Given the description of an element on the screen output the (x, y) to click on. 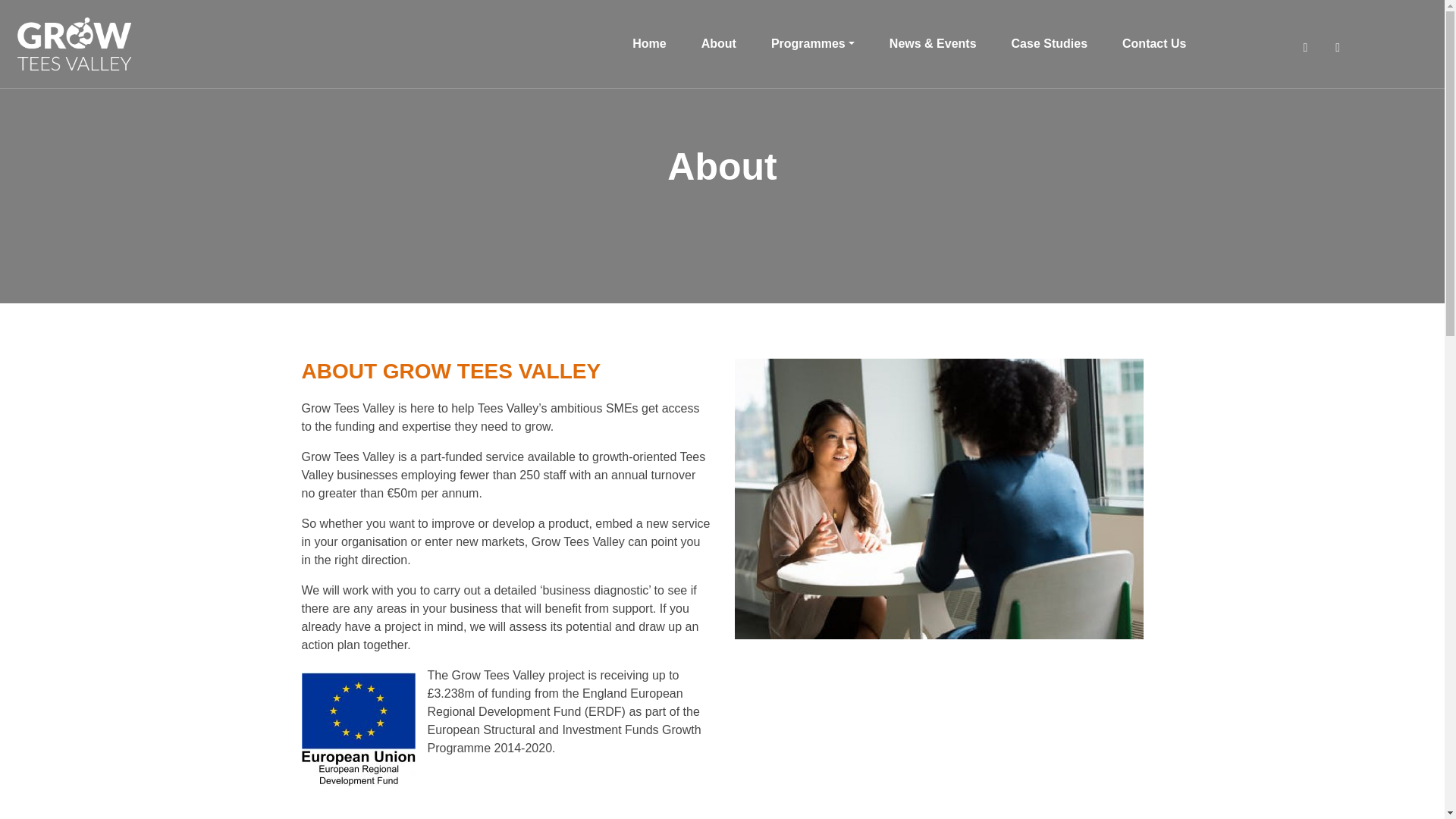
Programmes (812, 43)
Case Studies (1049, 43)
Programmes (812, 43)
Home (648, 43)
About (718, 43)
About (718, 43)
Case Studies (1049, 43)
Contact Us (1154, 43)
Contact Us (1154, 43)
Home (648, 43)
